Given the description of an element on the screen output the (x, y) to click on. 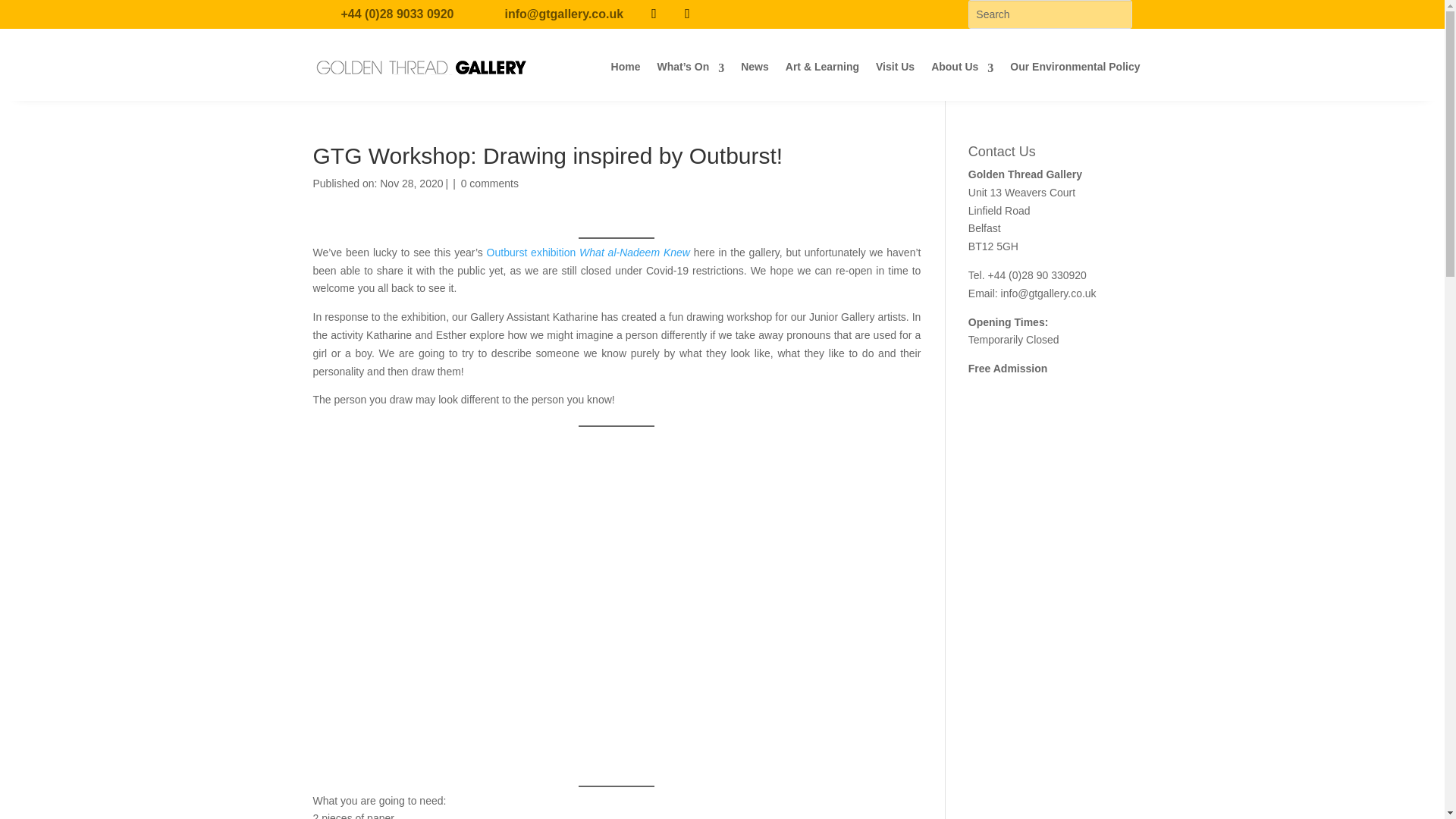
Our Environmental Policy (1075, 66)
About Us (961, 66)
Follow on Instagram (686, 13)
Follow on Facebook (653, 13)
Search (24, 13)
